Given the description of an element on the screen output the (x, y) to click on. 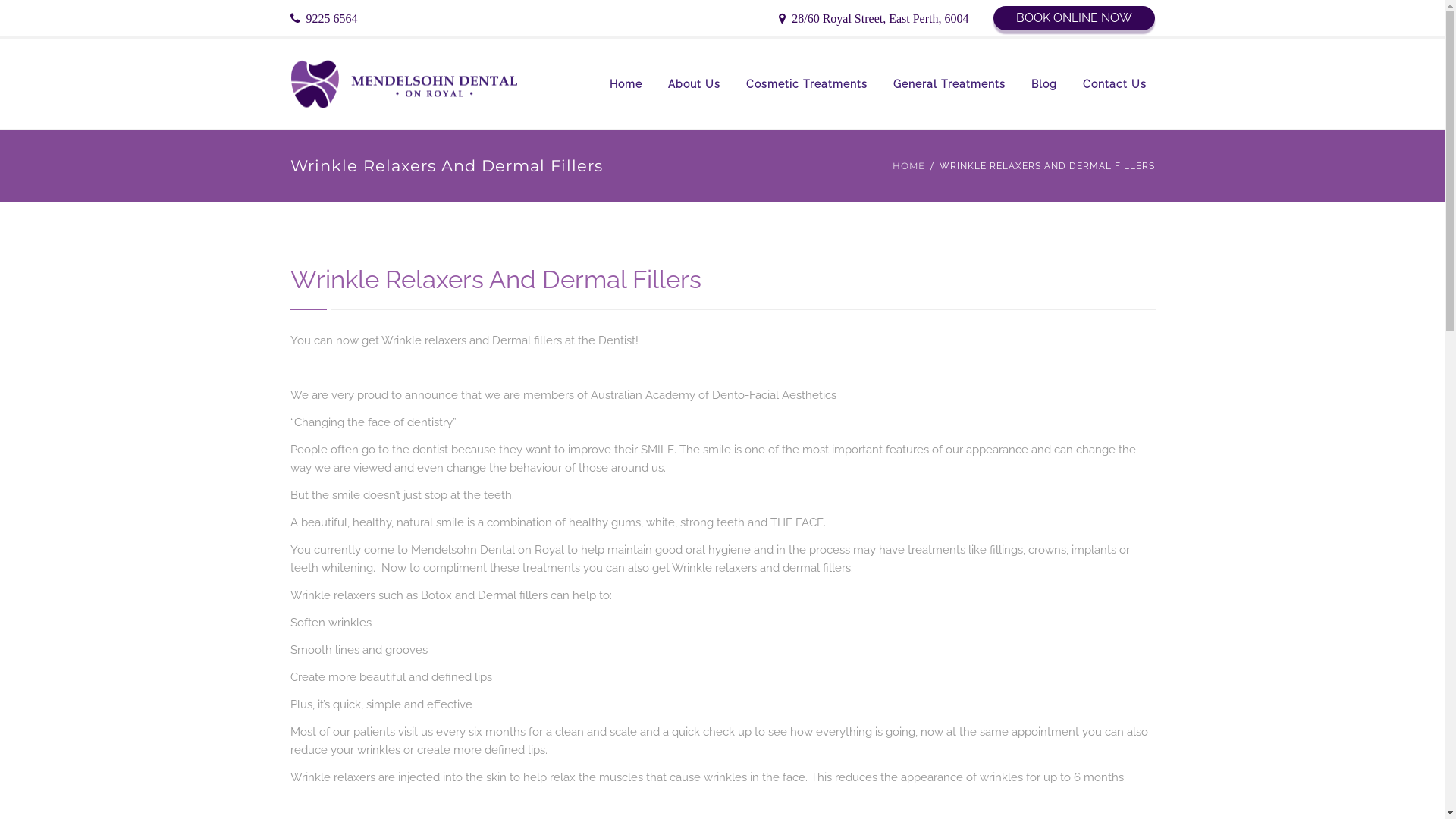
Blog Element type: text (1043, 83)
Cosmetic Treatments Element type: text (806, 83)
BOOK ONLINE NOW Element type: text (1073, 18)
Contact Us Element type: text (1113, 83)
9225 6564 Element type: text (323, 19)
About Us Element type: text (693, 83)
HOME Element type: text (907, 165)
Home Element type: text (624, 83)
General Treatments Element type: text (948, 83)
Wrinkle relaxers and dermal fillers Element type: text (760, 567)
28/60 Royal Street, East Perth, 6004 Element type: text (873, 19)
